Given the description of an element on the screen output the (x, y) to click on. 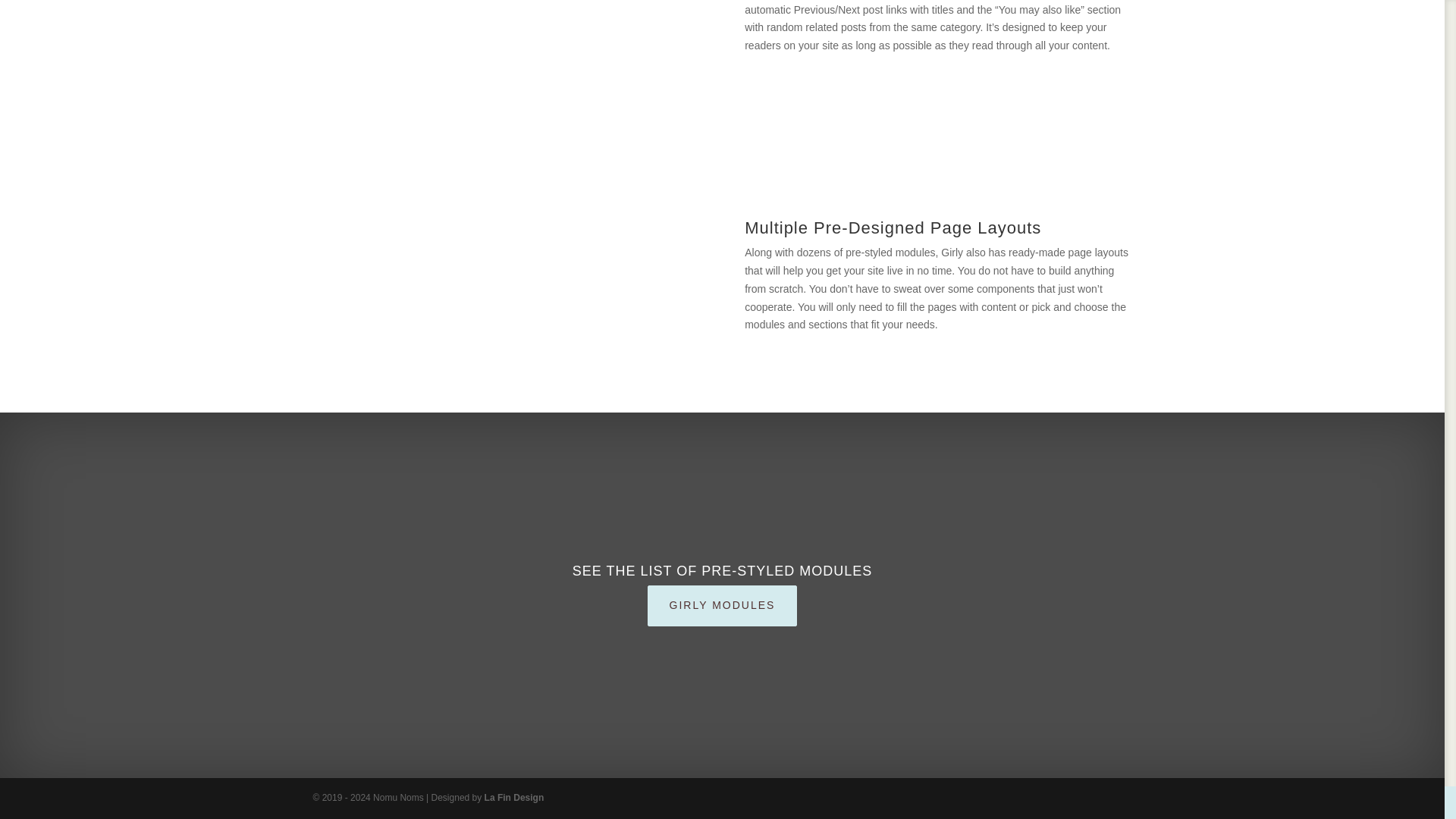
La Fin Design (514, 797)
GIRLY MODULES (722, 605)
